Given the description of an element on the screen output the (x, y) to click on. 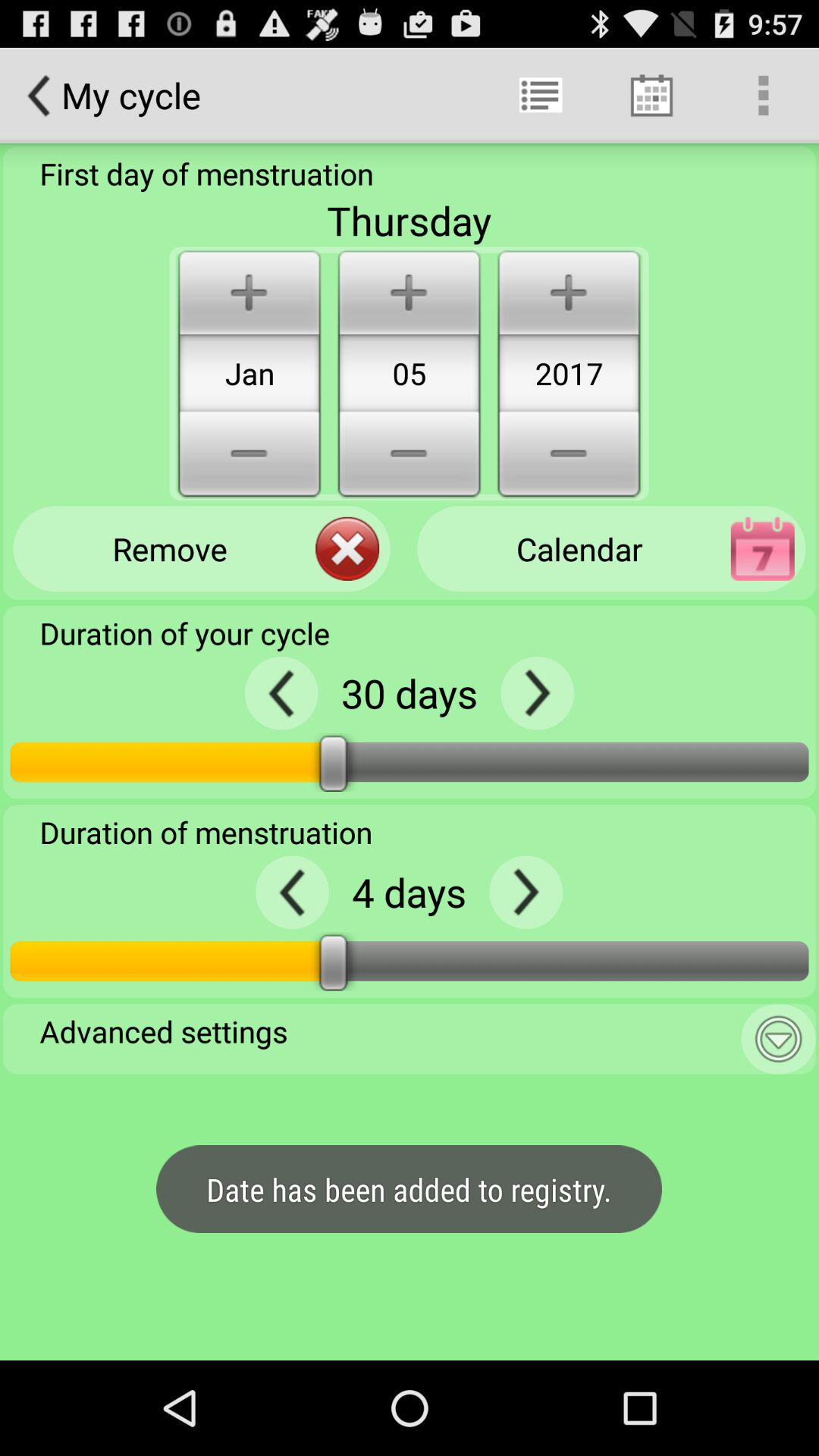
select the next option (537, 693)
